Given the description of an element on the screen output the (x, y) to click on. 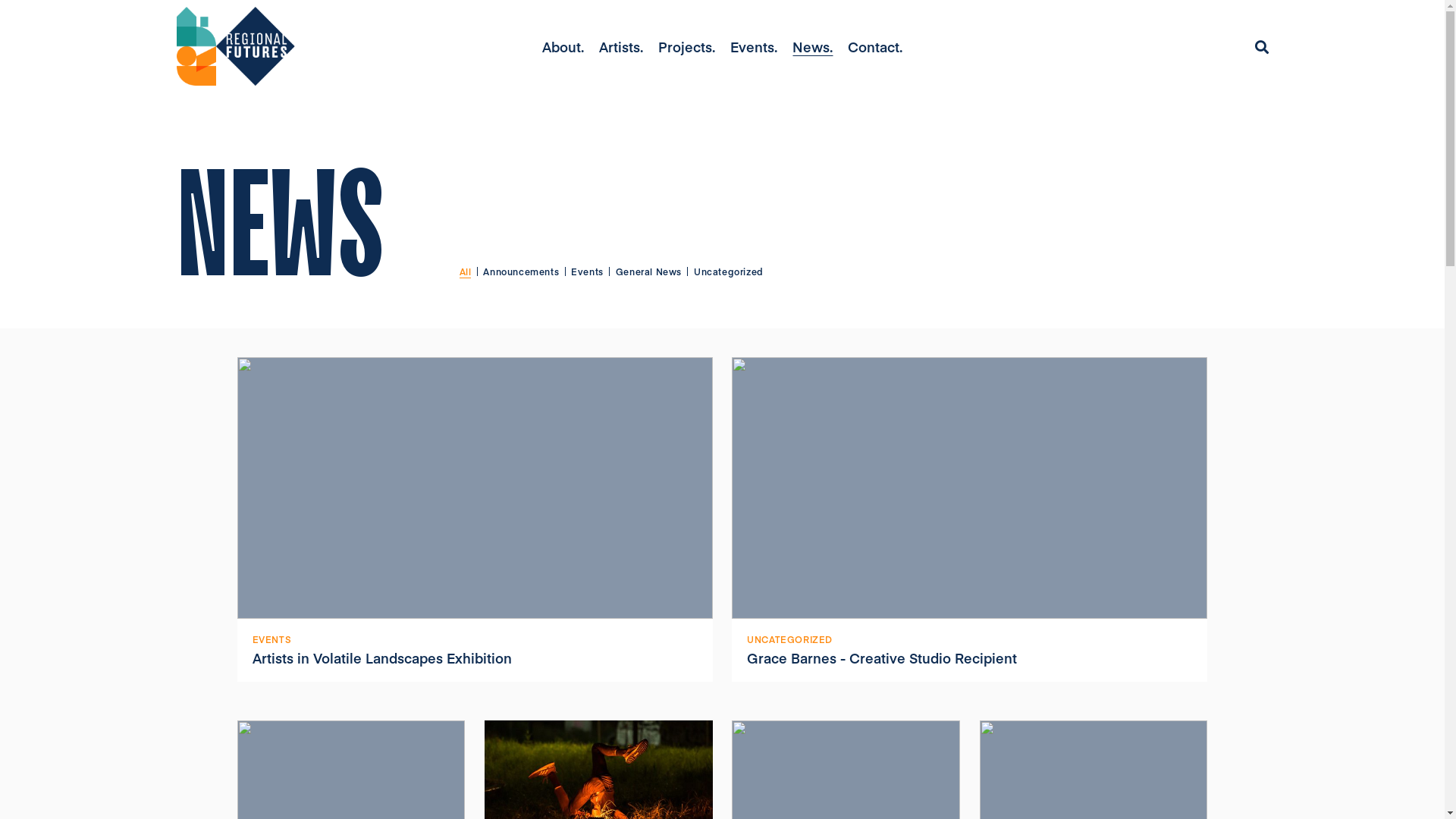
All Element type: text (465, 271)
Artists. Element type: text (620, 46)
About. Element type: text (562, 46)
EVENTS
Artists in Volatile Landscapes Exhibition Element type: text (474, 518)
Events. Element type: text (753, 46)
General News Element type: text (648, 271)
Uncategorized Element type: text (728, 271)
Contact. Element type: text (875, 46)
UNCATEGORIZED
Grace Barnes - Creative Studio Recipient Element type: text (969, 518)
Announcements Element type: text (520, 271)
Events Element type: text (587, 271)
News. Element type: text (812, 46)
Projects. Element type: text (686, 46)
